Given the description of an element on the screen output the (x, y) to click on. 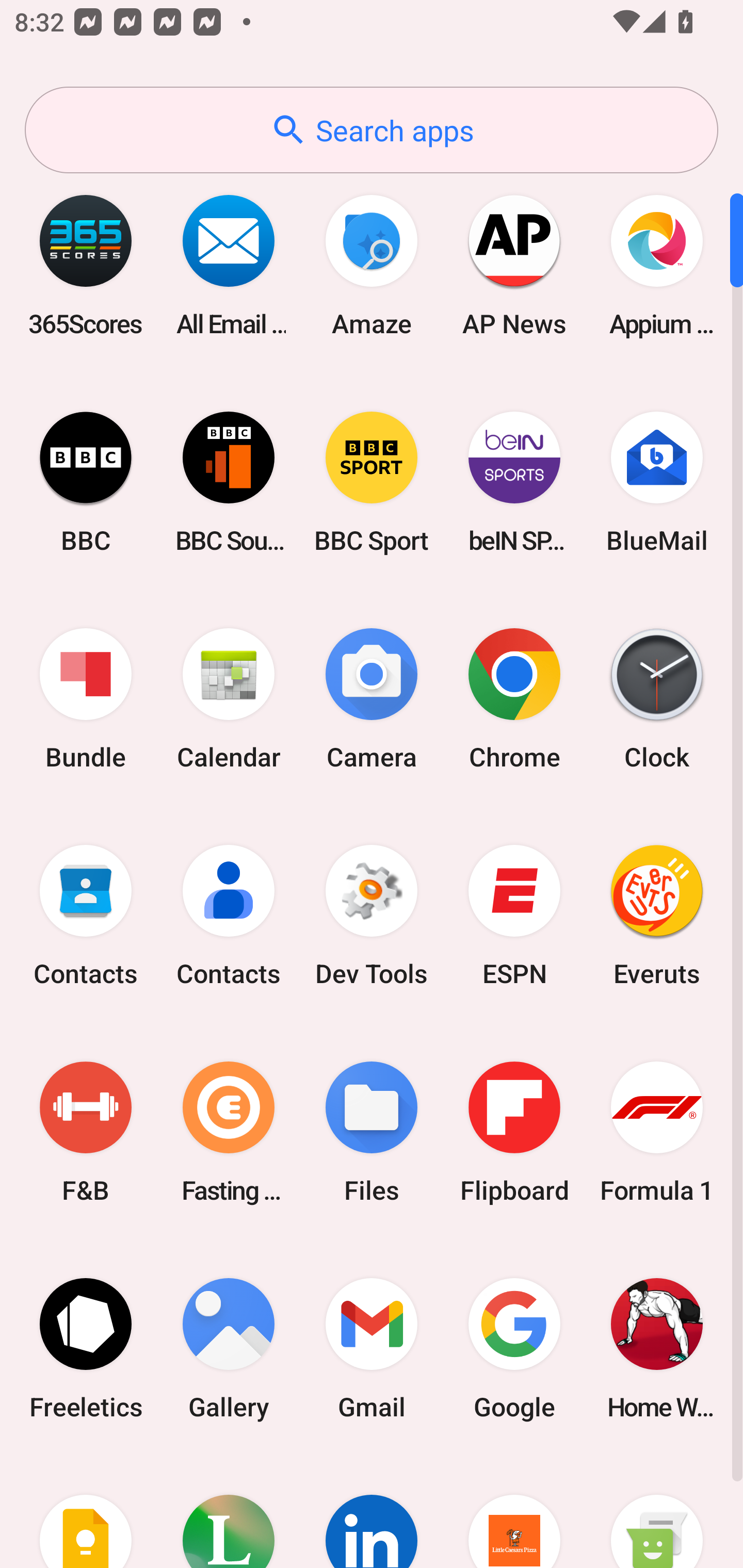
  Search apps (371, 130)
365Scores (85, 264)
All Email Connect (228, 264)
Amaze (371, 264)
AP News (514, 264)
Appium Settings (656, 264)
BBC (85, 482)
BBC Sounds (228, 482)
BBC Sport (371, 482)
beIN SPORTS (514, 482)
BlueMail (656, 482)
Bundle (85, 699)
Calendar (228, 699)
Camera (371, 699)
Chrome (514, 699)
Clock (656, 699)
Contacts (85, 915)
Contacts (228, 915)
Dev Tools (371, 915)
ESPN (514, 915)
Everuts (656, 915)
F&B (85, 1131)
Fasting Coach (228, 1131)
Files (371, 1131)
Flipboard (514, 1131)
Formula 1 (656, 1131)
Freeletics (85, 1348)
Gallery (228, 1348)
Gmail (371, 1348)
Google (514, 1348)
Home Workout (656, 1348)
Keep Notes (85, 1512)
Lifesum (228, 1512)
LinkedIn (371, 1512)
Little Caesars Pizza (514, 1512)
Messaging (656, 1512)
